Given the description of an element on the screen output the (x, y) to click on. 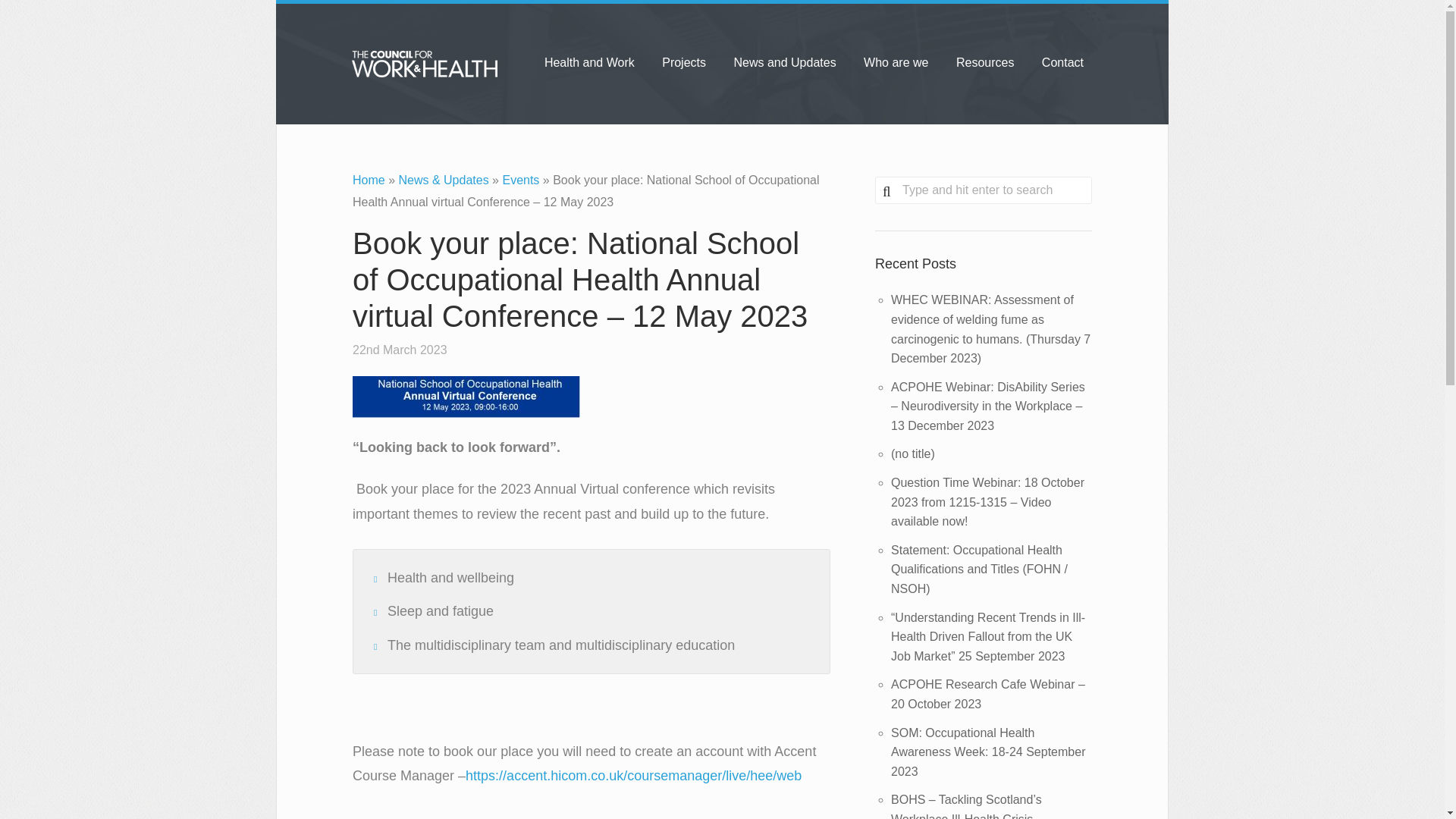
Projects (683, 62)
Type and hit enter to search (983, 189)
Health and Work (589, 62)
Who are we (895, 62)
Contact (1062, 62)
News and Updates (783, 62)
Resources (985, 62)
